Given the description of an element on the screen output the (x, y) to click on. 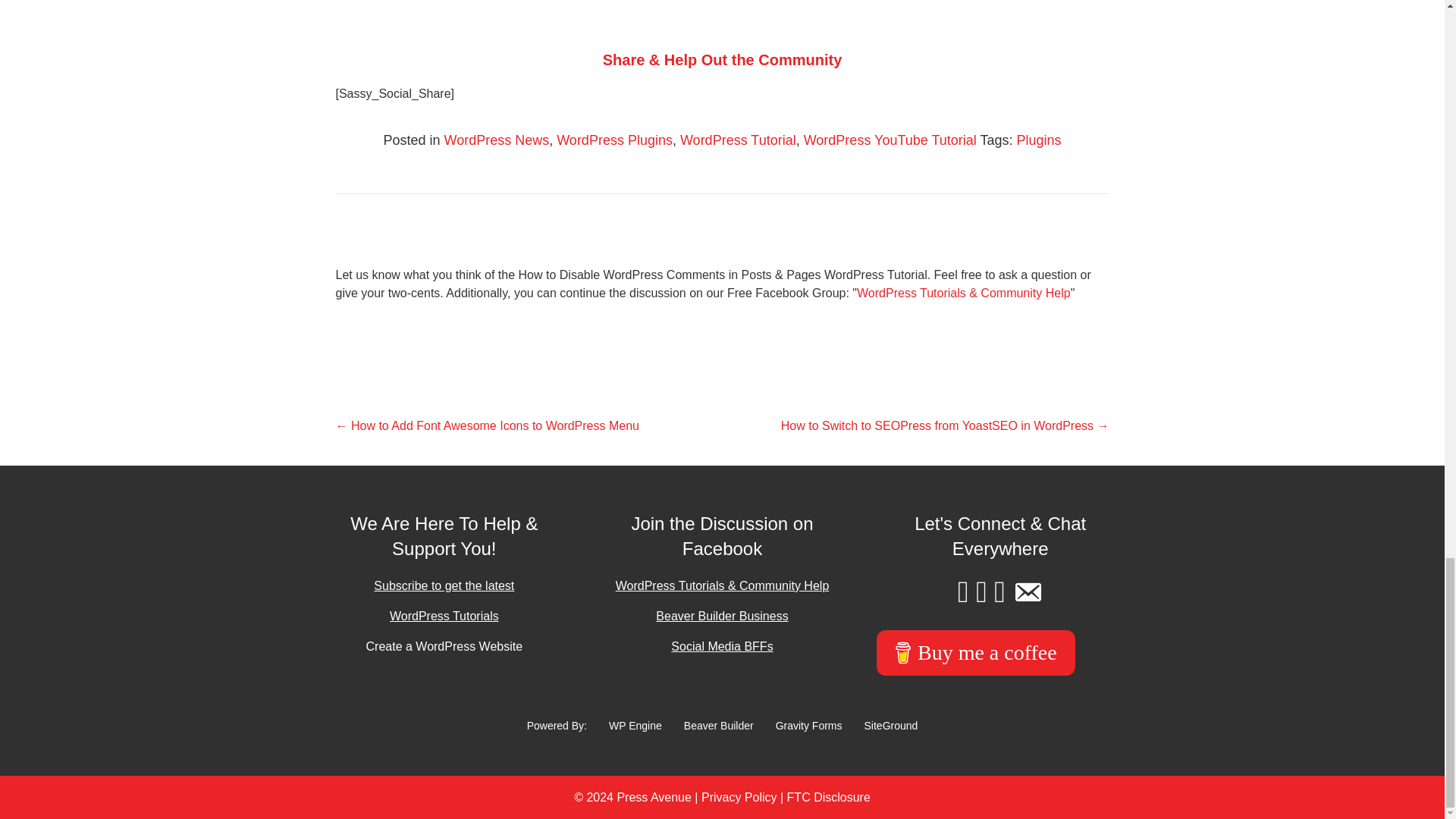
Beaver Builder Business (721, 615)
WordPress Plugins (614, 140)
WordPress Tutorials (444, 615)
WordPress YouTube Tutorial (889, 140)
Plugins (1038, 140)
Social Media BFFs (722, 645)
Create a WordPress Website (443, 645)
Subscribe to get the latest (443, 585)
WP Engine (635, 725)
Advertisement (721, 7)
